Given the description of an element on the screen output the (x, y) to click on. 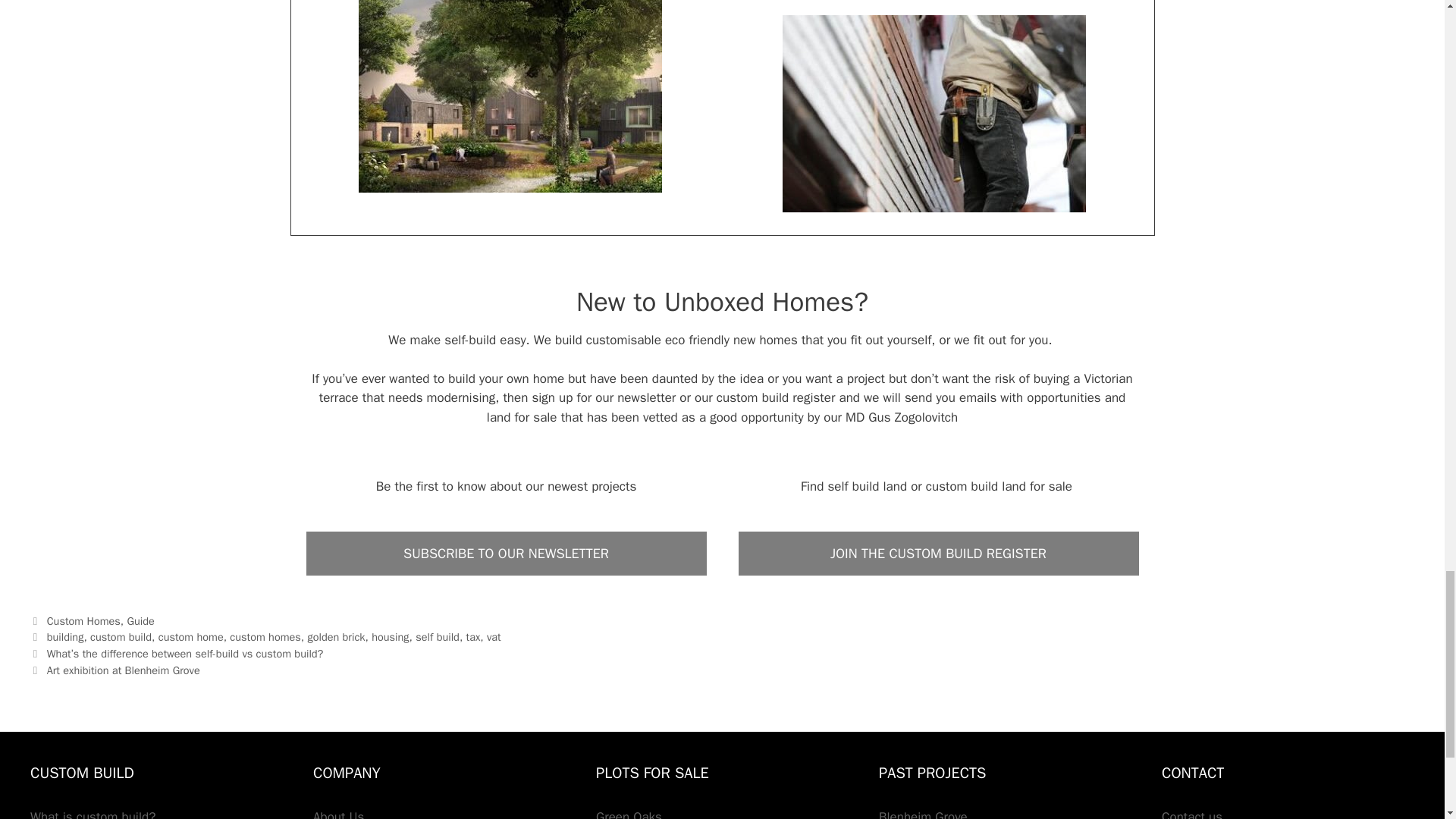
golden brick (336, 636)
tax (472, 636)
vat (493, 636)
Blenheim Grove (923, 814)
JOIN THE CUSTOM BUILD REGISTER (937, 553)
What is custom build? (92, 814)
custom build (120, 636)
Guide (141, 621)
building (65, 636)
custom home (191, 636)
